Given the description of an element on the screen output the (x, y) to click on. 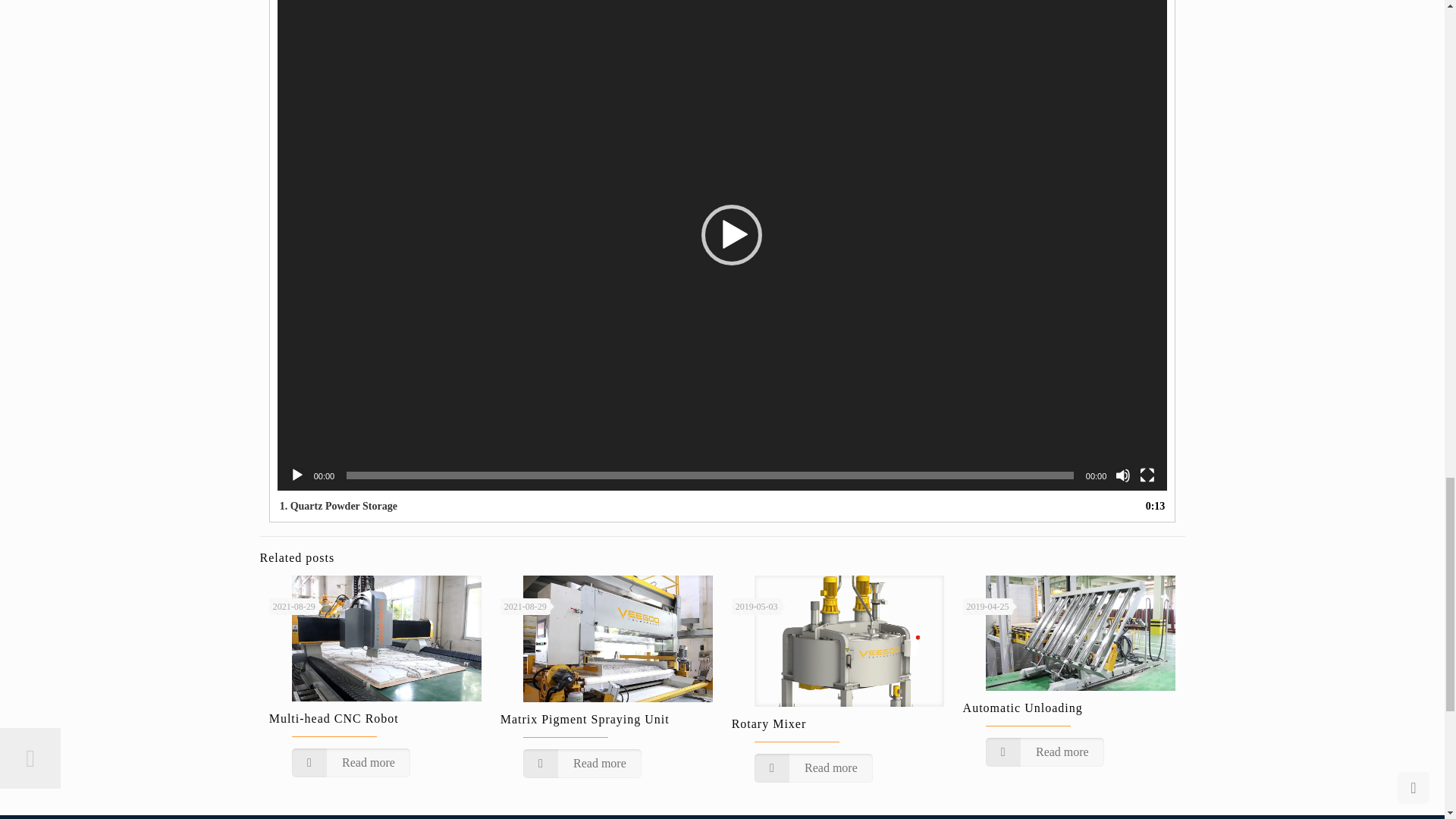
Play (296, 475)
Mute (1123, 475)
Fullscreen (1147, 475)
